Given the description of an element on the screen output the (x, y) to click on. 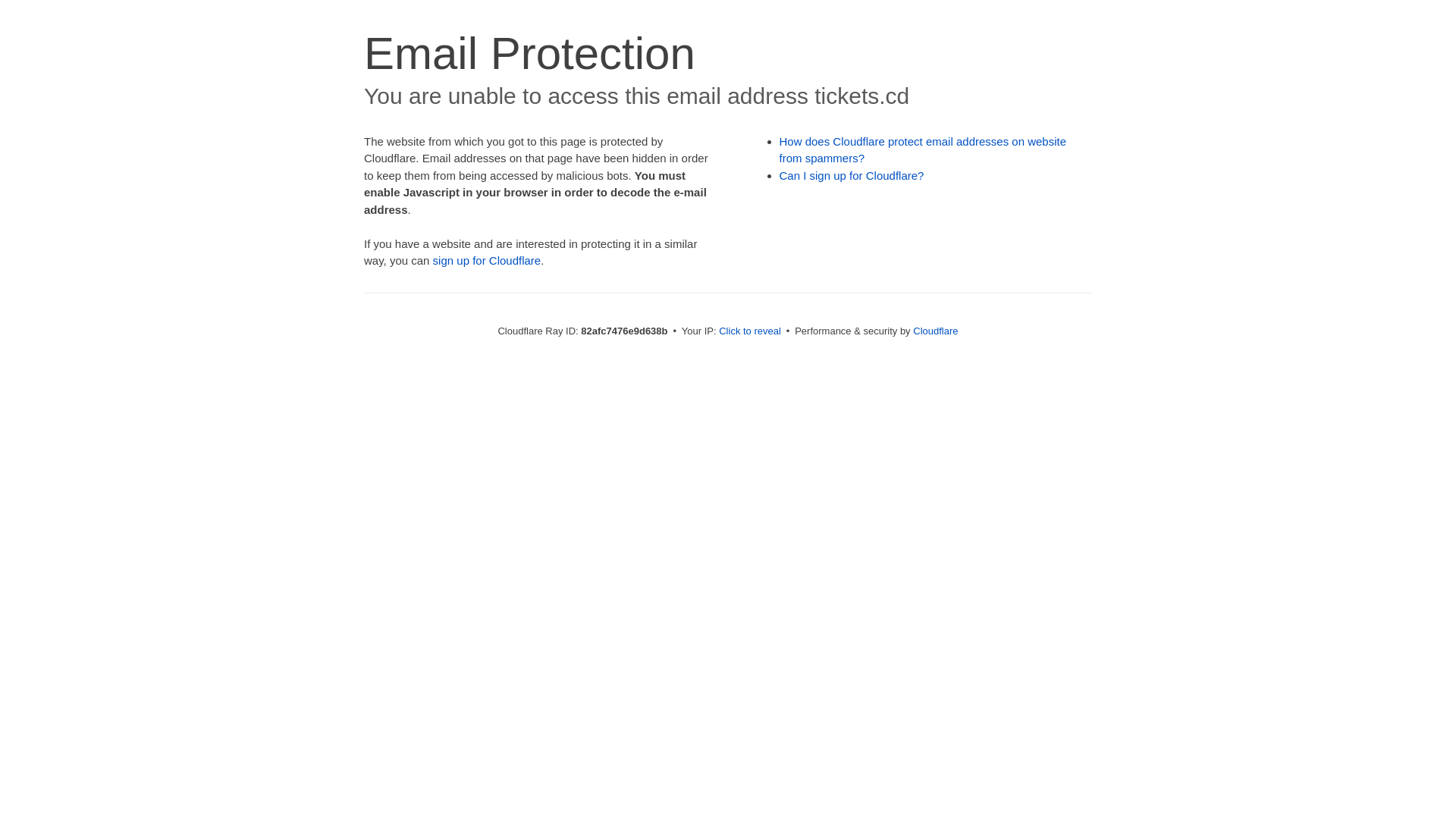
Cloudflare Element type: text (935, 330)
sign up for Cloudflare Element type: text (487, 260)
Can I sign up for Cloudflare? Element type: text (851, 175)
Click to reveal Element type: text (749, 330)
